Given the description of an element on the screen output the (x, y) to click on. 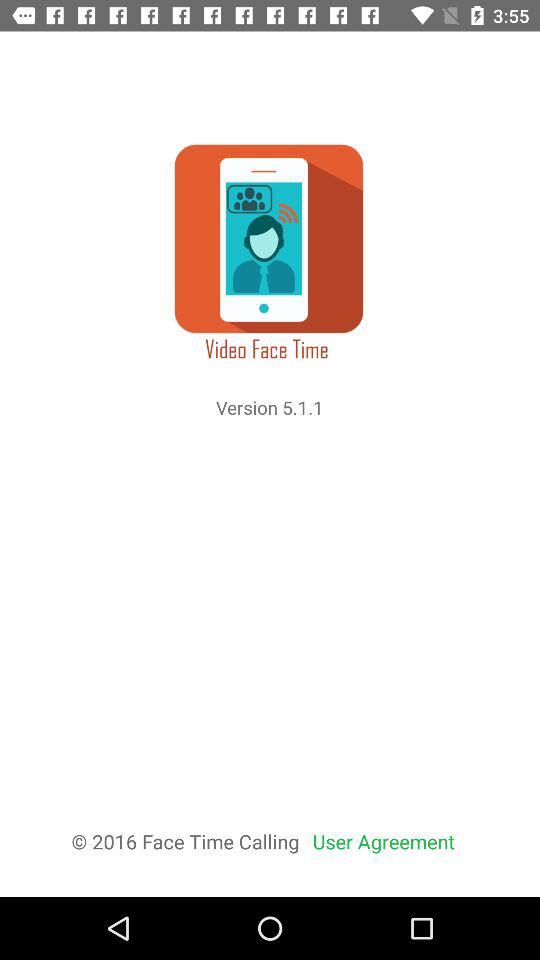
jump until the user agreement icon (383, 841)
